Given the description of an element on the screen output the (x, y) to click on. 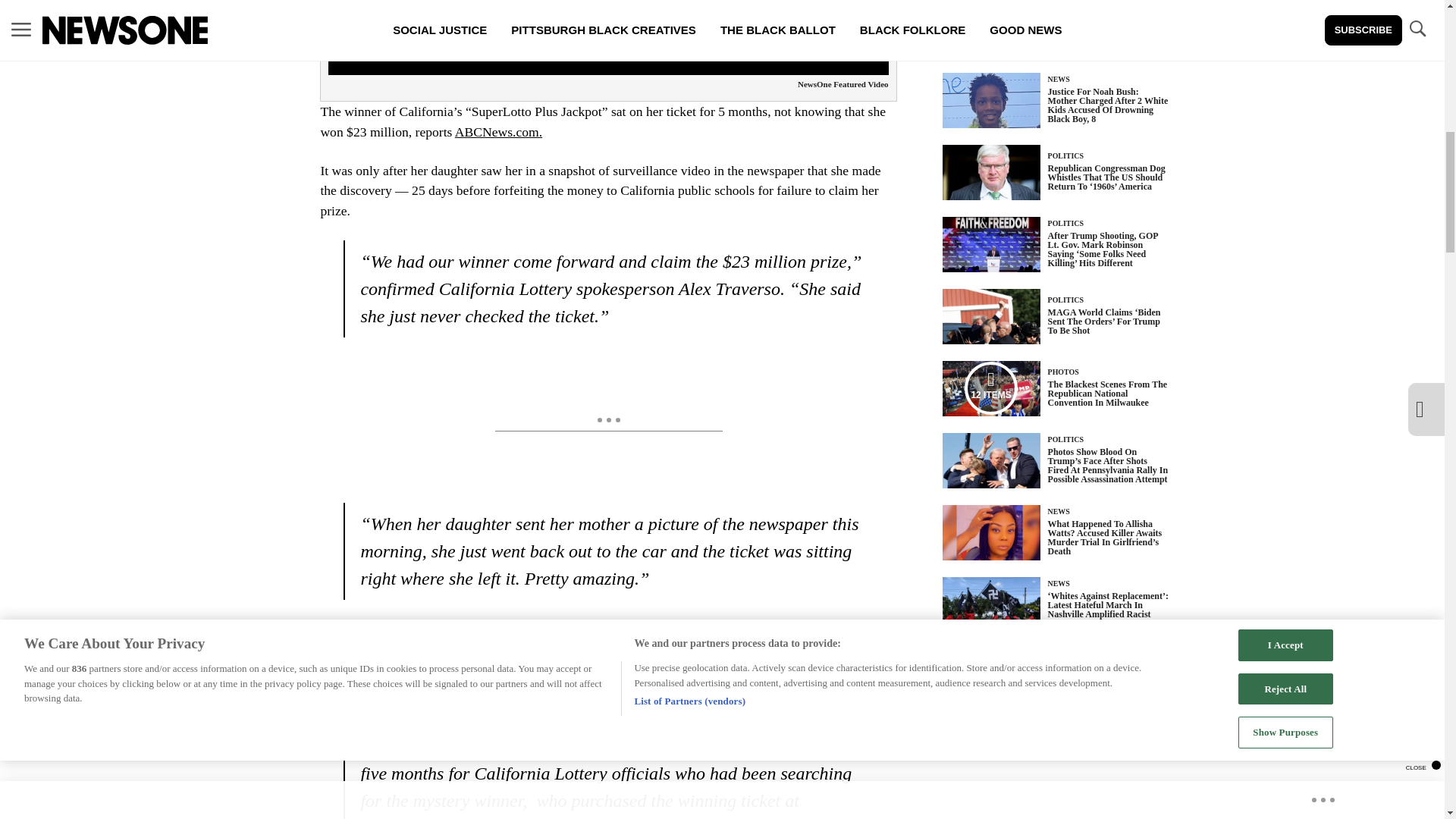
ABC News (595, 667)
ABCNews.com. (497, 131)
Media Playlist (990, 387)
